Given the description of an element on the screen output the (x, y) to click on. 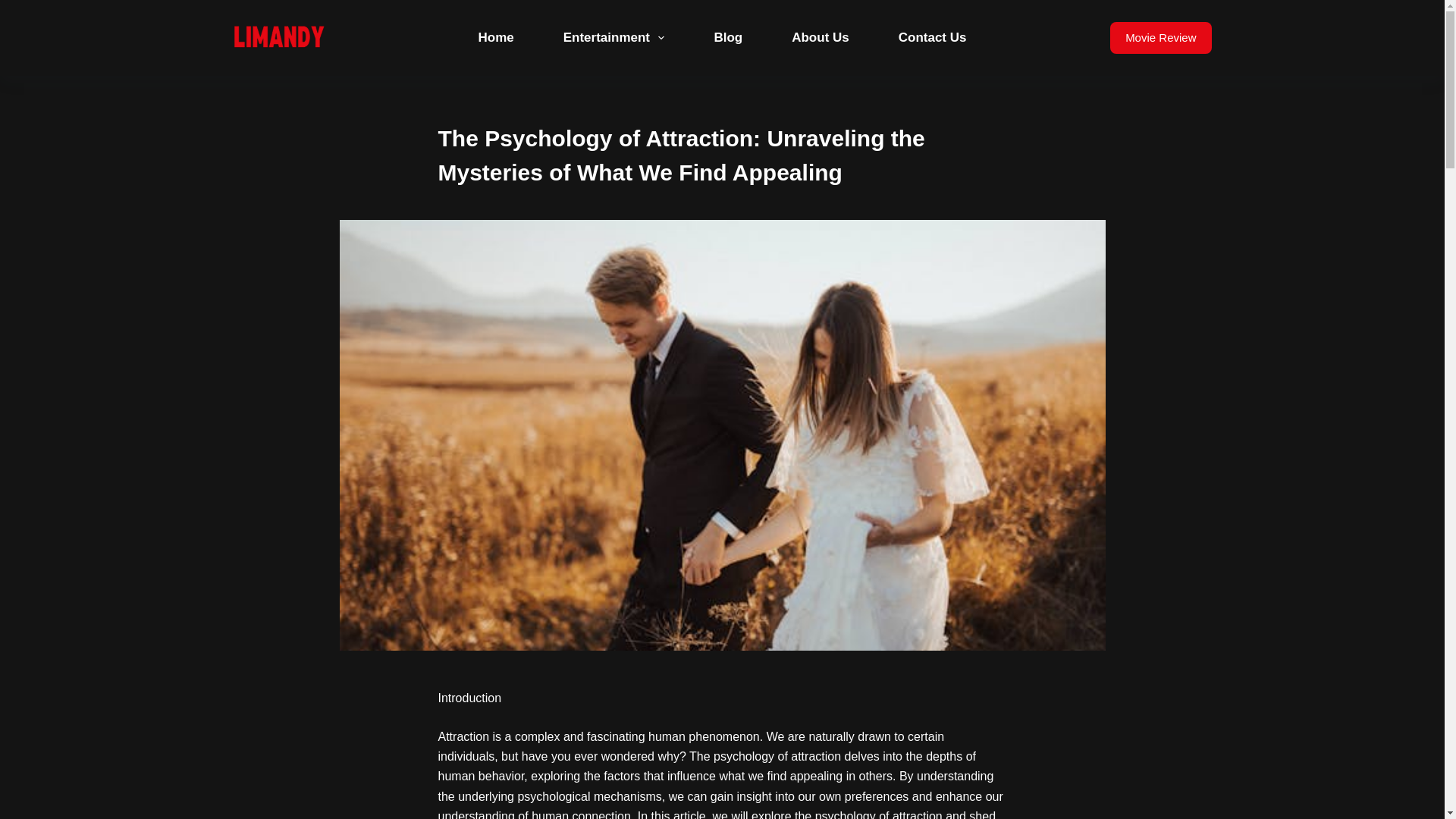
Entertainment (613, 38)
Skip to content (15, 7)
About Us (821, 38)
Contact Us (932, 38)
Home (495, 38)
Movie Review (1160, 38)
Blog (727, 38)
